Given the description of an element on the screen output the (x, y) to click on. 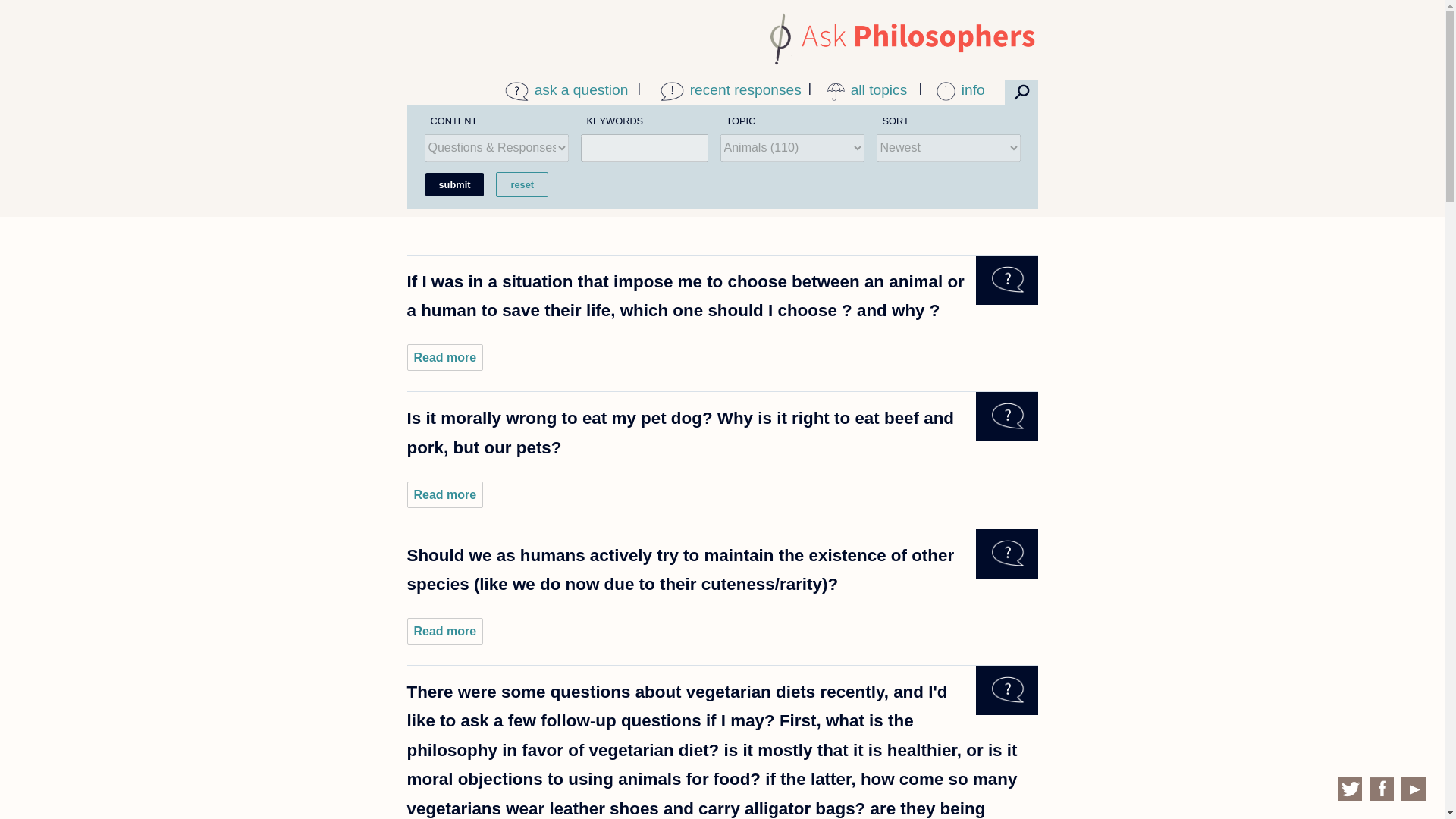
Submit (454, 184)
Reset (522, 184)
recent responses (743, 89)
all topics (875, 89)
Reset (522, 184)
Submit (454, 184)
